Given the description of an element on the screen output the (x, y) to click on. 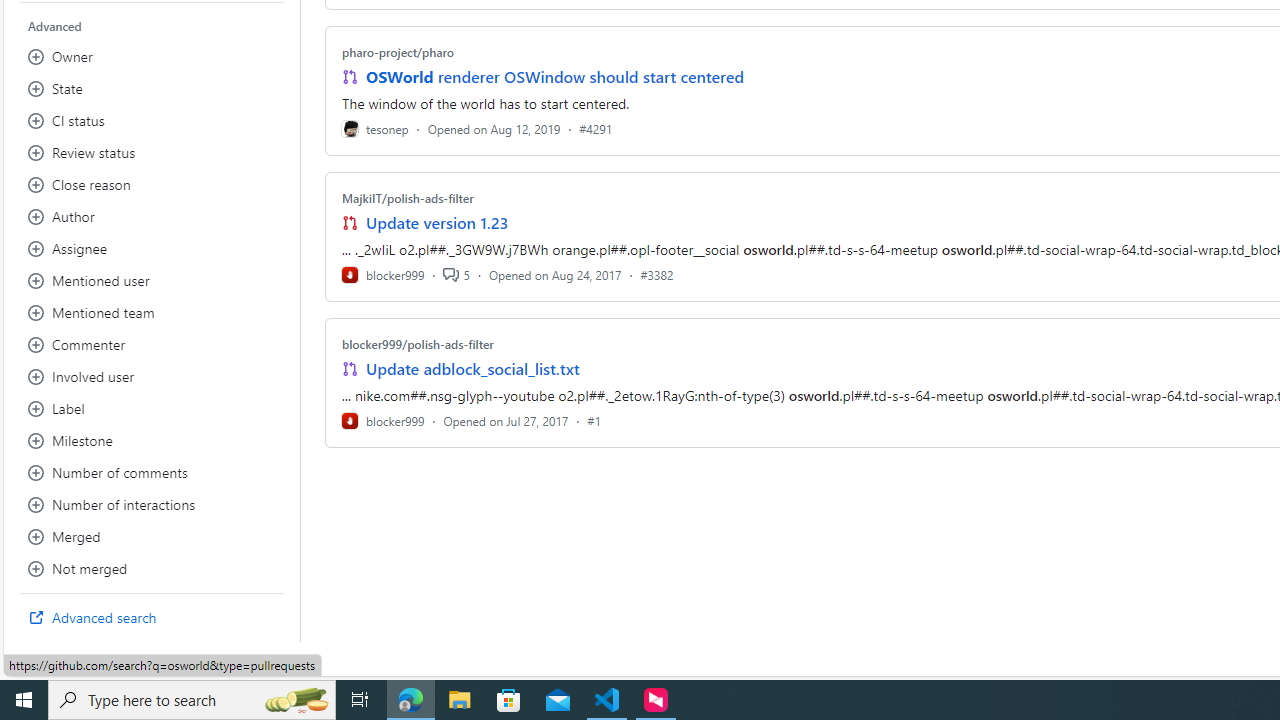
MajkiIT/polish-ads-filter (407, 197)
blocker999/polish-ads-filter (417, 343)
#3382 (657, 273)
